Given the description of an element on the screen output the (x, y) to click on. 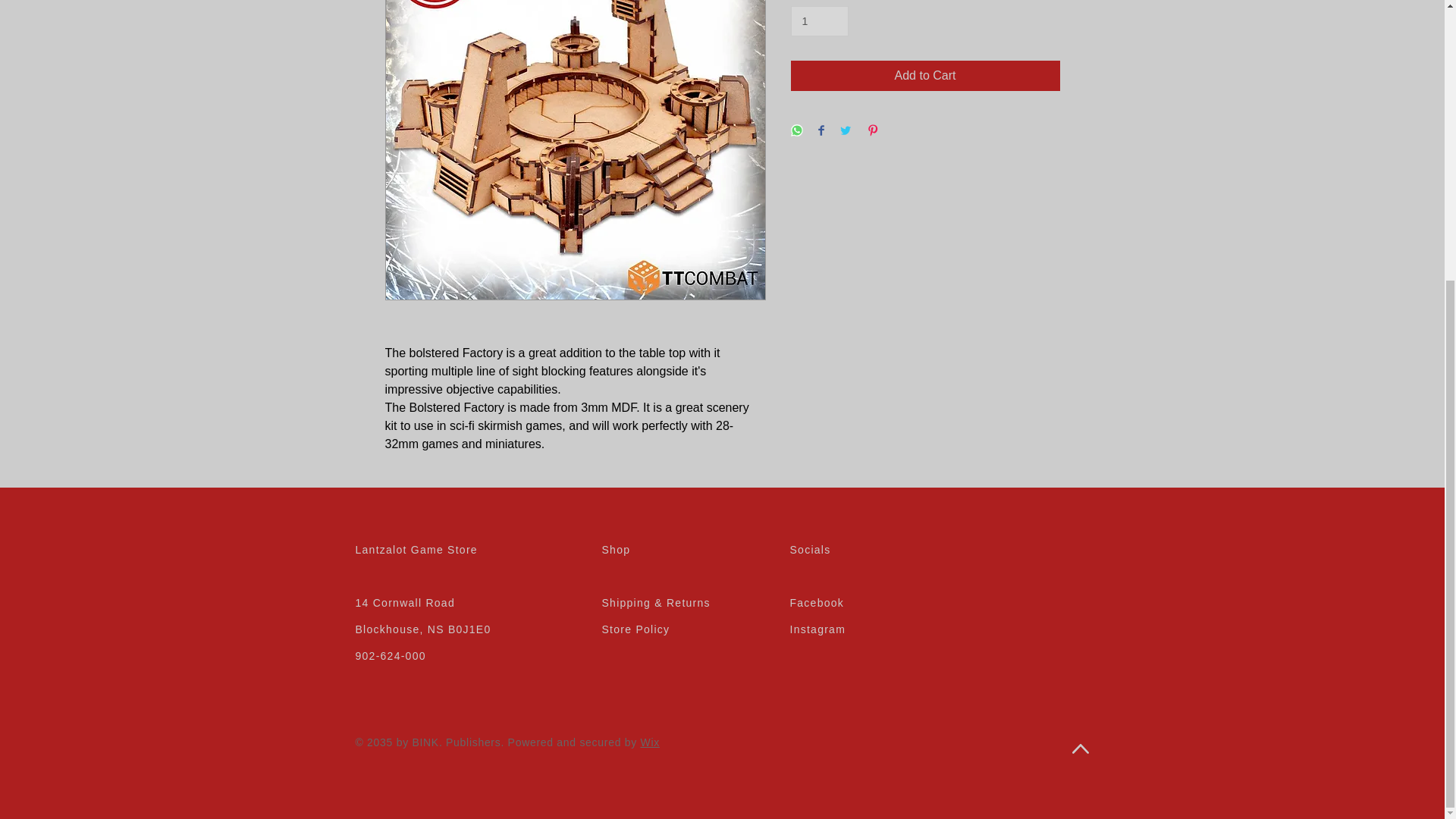
1 (818, 20)
